Given the description of an element on the screen output the (x, y) to click on. 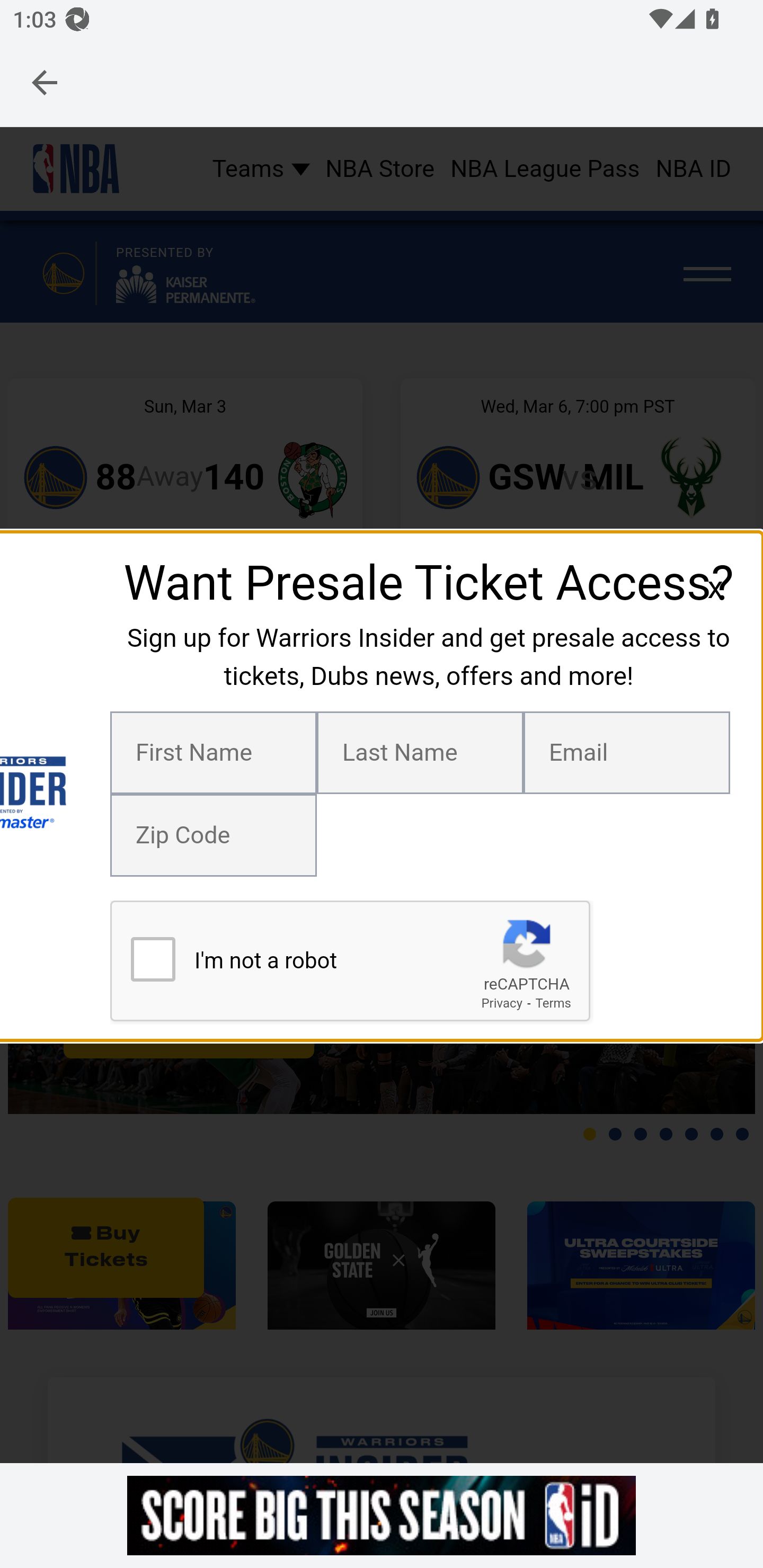
Navigate up (44, 82)
I'm not a robot (153, 958)
Privacy (501, 1002)
Terms (552, 1002)
